Given the description of an element on the screen output the (x, y) to click on. 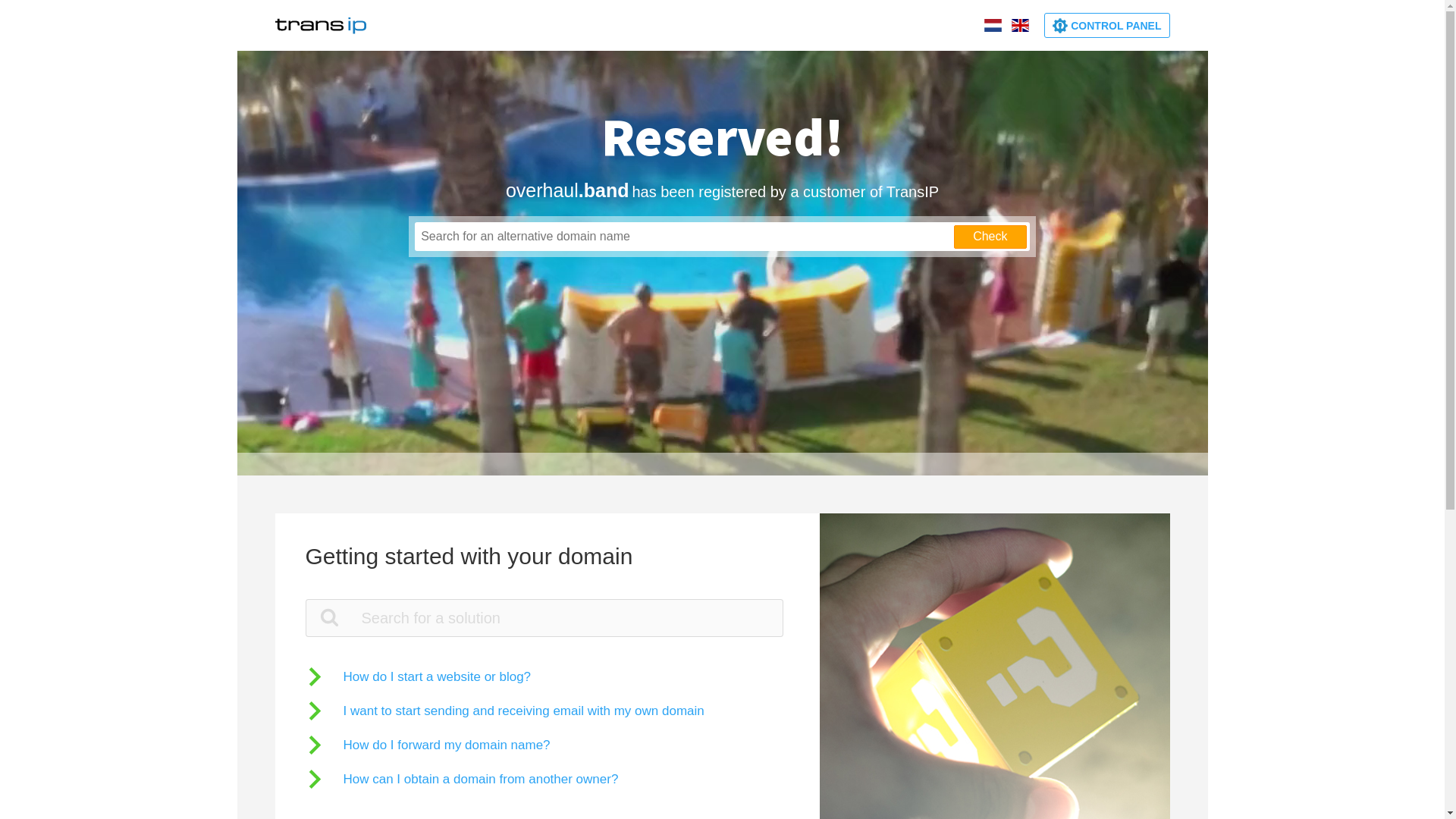
How do I forward my domain name? Element type: text (426, 744)
CONTROL PANEL Element type: text (1106, 24)
How do I start a website or blog? Element type: text (417, 676)
Check Element type: text (989, 236)
How can I obtain a domain from another owner? Element type: text (461, 778)
